Given the description of an element on the screen output the (x, y) to click on. 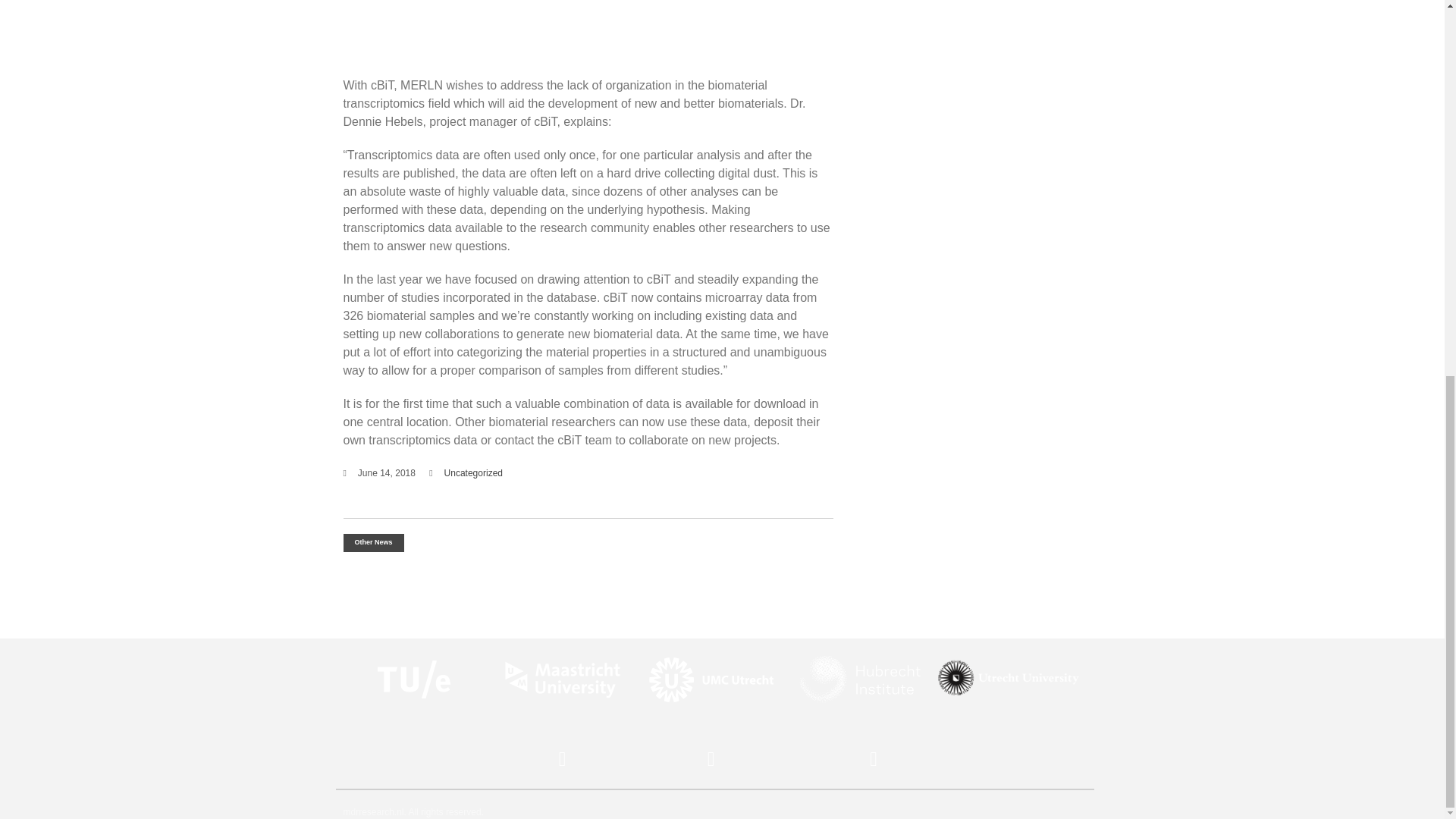
View all posts in Uncategorized (473, 472)
Search (1315, 121)
Search (1360, 203)
